Given the description of an element on the screen output the (x, y) to click on. 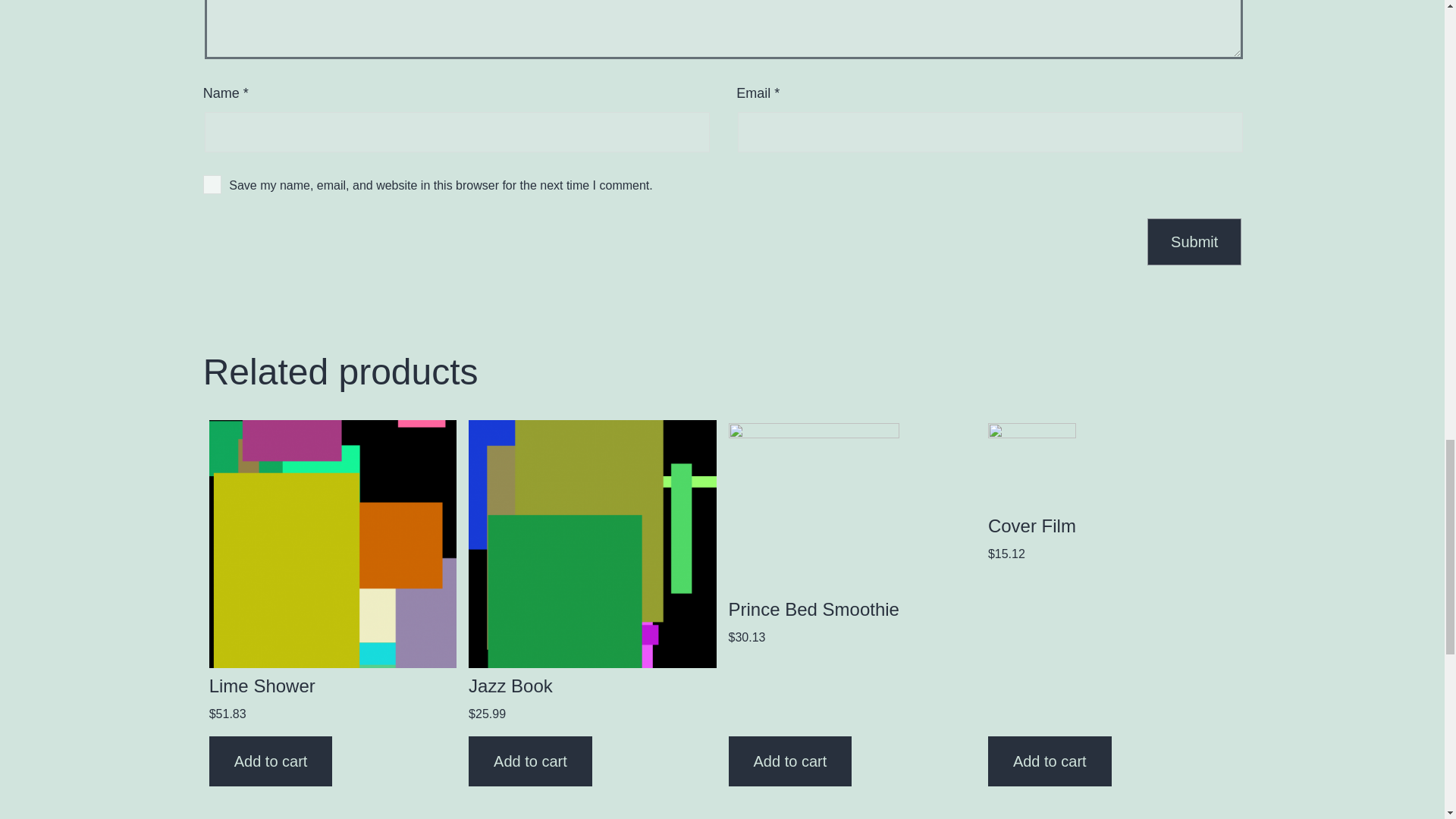
Submit (1194, 241)
Add to cart (789, 761)
yes (212, 184)
Add to cart (530, 761)
Submit (1194, 241)
Add to cart (271, 761)
Add to cart (1050, 761)
